Given the description of an element on the screen output the (x, y) to click on. 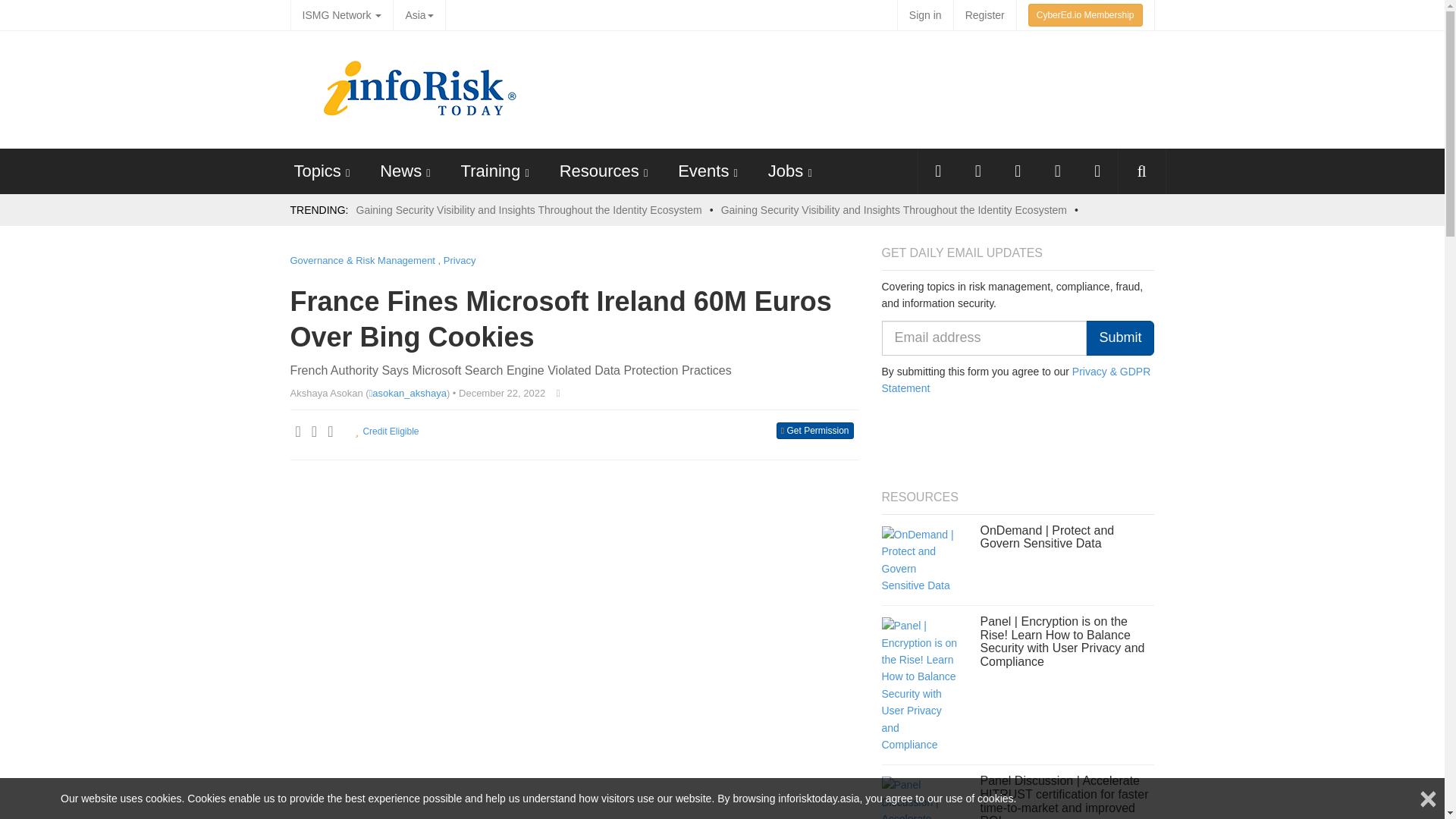
CyberEd.io Membership (1084, 15)
Asia (418, 15)
Sign in (925, 15)
Register (984, 15)
ISMG Network (341, 15)
Topics (317, 170)
